Given the description of an element on the screen output the (x, y) to click on. 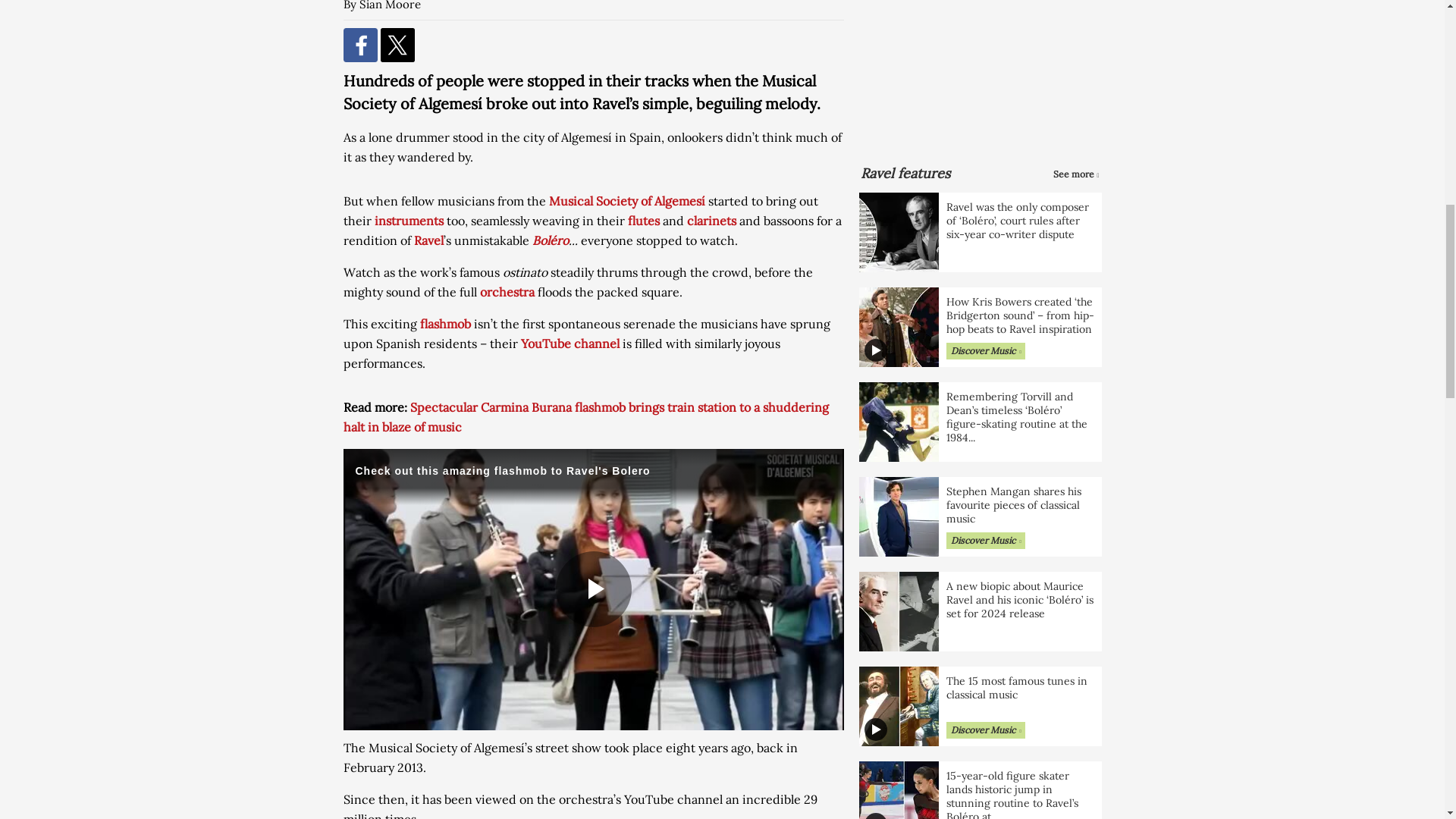
flutes (643, 220)
instruments (409, 220)
